Given the description of an element on the screen output the (x, y) to click on. 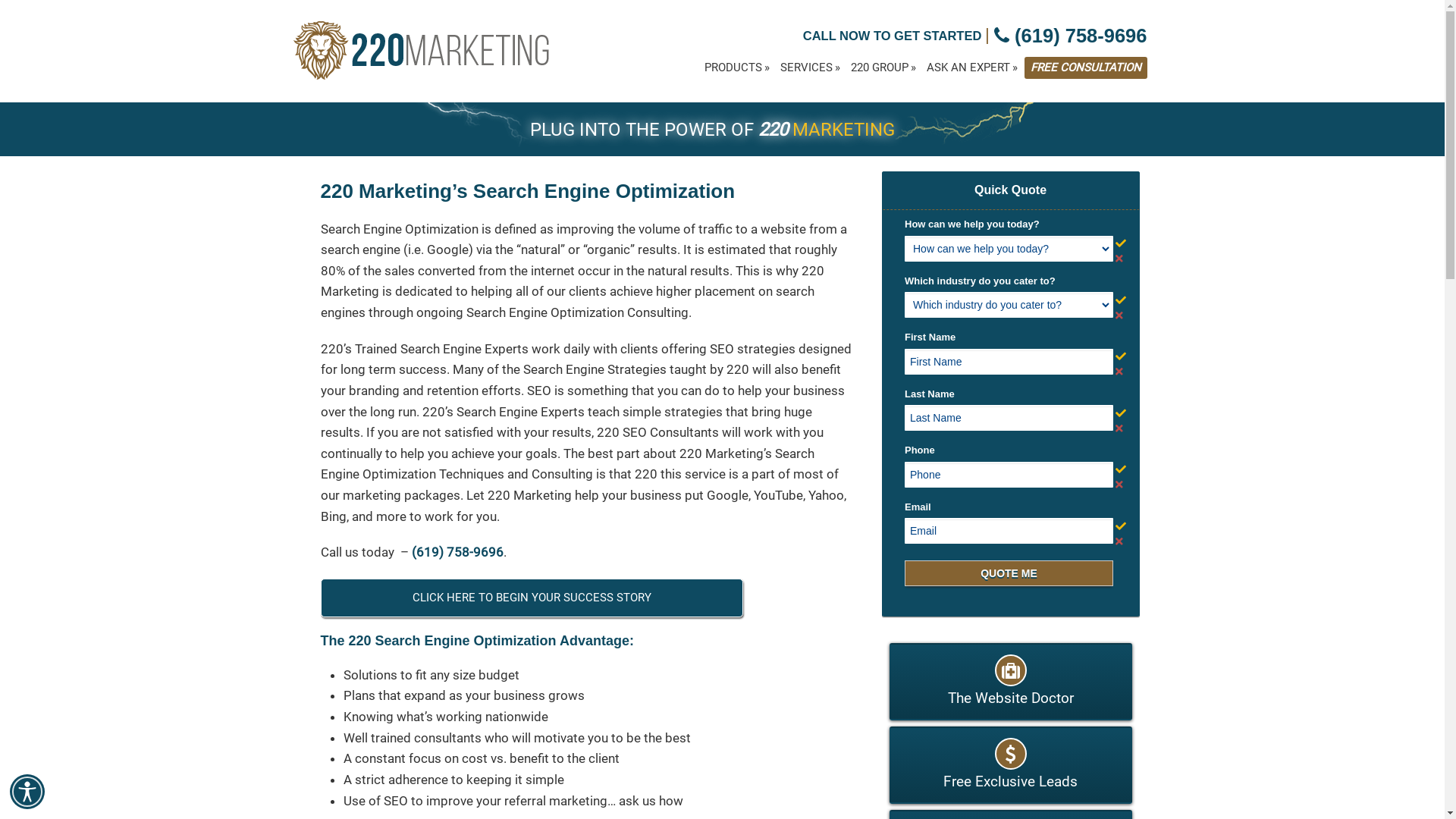
FREE CONSULTATION Element type: text (1084, 67)
Free Exclusive Leads Element type: text (1009, 764)
SERVICES Element type: text (810, 67)
220 GROUP Element type: text (882, 67)
(619) 758-9696 Element type: text (1070, 35)
220 Marketing Group Element type: text (422, 56)
ASK AN EXPERT Element type: text (971, 67)
The Website Doctor Element type: text (1009, 681)
CLICK HERE TO BEGIN YOUR SUCCESS STORY Element type: text (531, 597)
Corp - QQ Element type: hover (1016, 404)
(619) 758-9696 Element type: text (456, 551)
PRODUCTS Element type: text (736, 67)
